Given the description of an element on the screen output the (x, y) to click on. 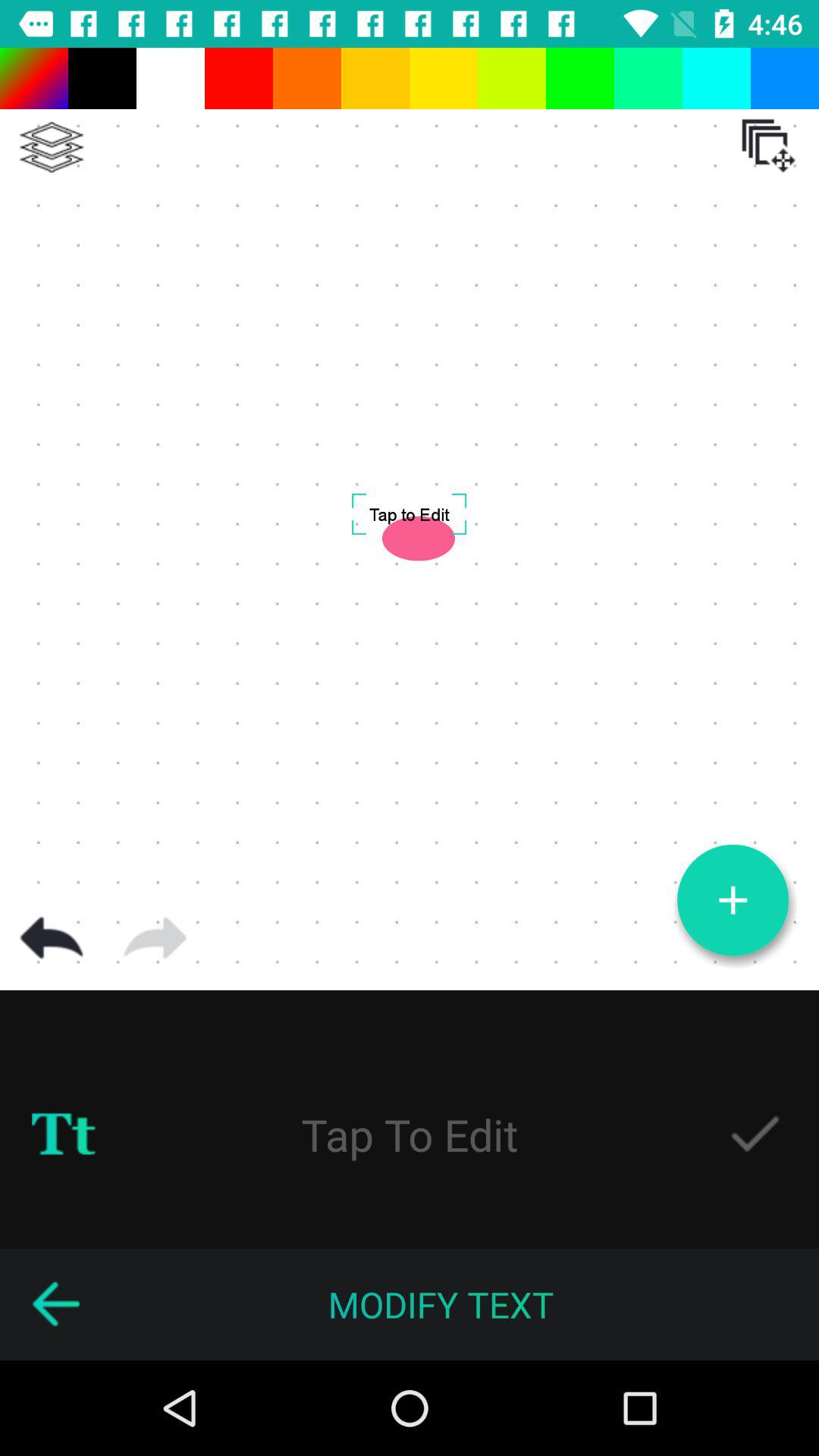
add archive (768, 145)
